Given the description of an element on the screen output the (x, y) to click on. 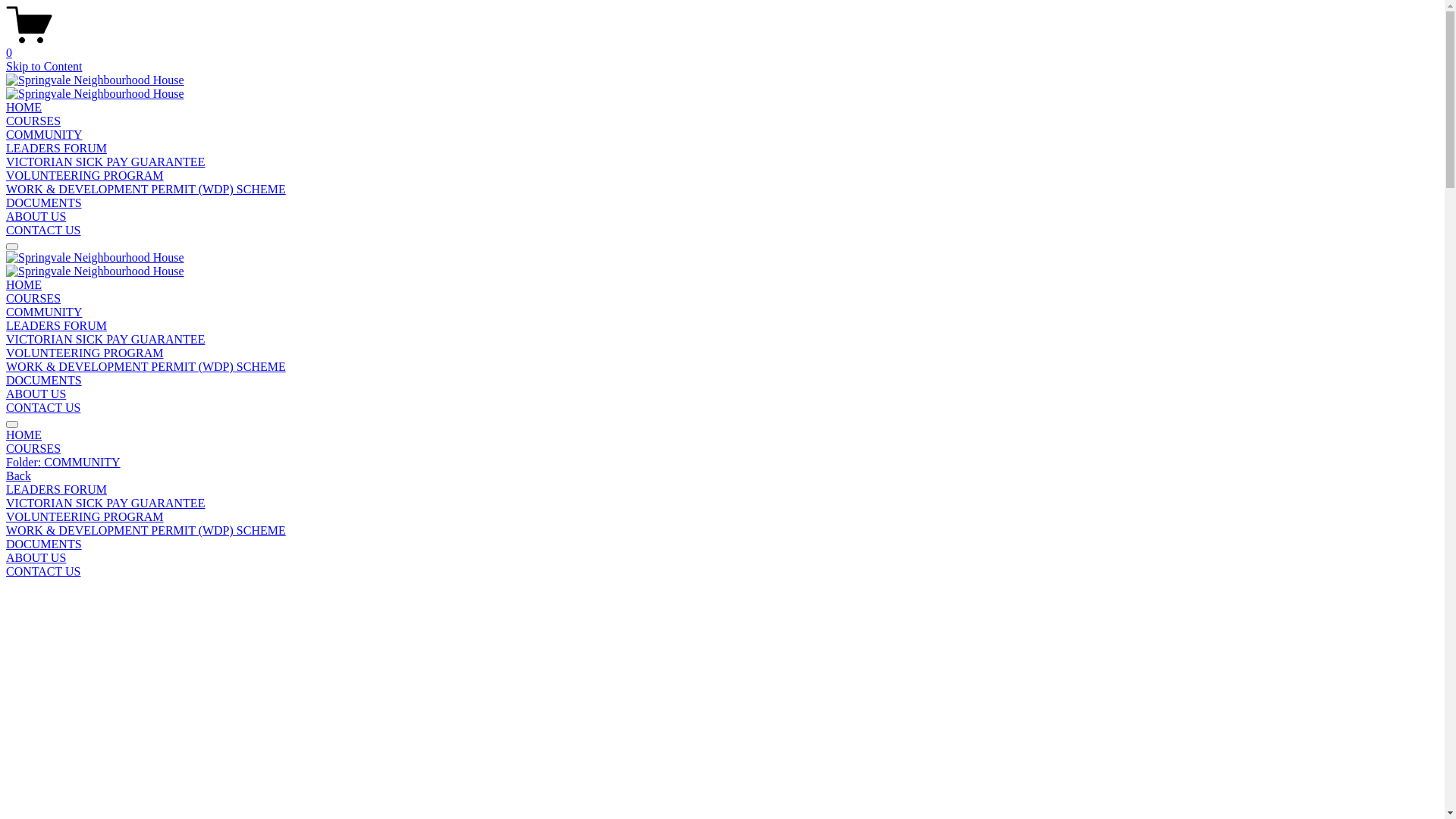
VICTORIAN SICK PAY GUARANTEE Element type: text (722, 503)
CONTACT US Element type: text (43, 407)
ABOUT US Element type: text (35, 393)
WORK & DEVELOPMENT PERMIT (WDP) SCHEME Element type: text (722, 530)
Folder: COMMUNITY Element type: text (722, 462)
HOME Element type: text (23, 284)
VOLUNTEERING PROGRAM Element type: text (84, 352)
VICTORIAN SICK PAY GUARANTEE Element type: text (105, 338)
HOME Element type: text (23, 106)
LEADERS FORUM Element type: text (56, 325)
COURSES Element type: text (722, 448)
VOLUNTEERING PROGRAM Element type: text (722, 517)
DOCUMENTS Element type: text (43, 379)
COURSES Element type: text (33, 297)
0 Element type: text (722, 45)
DOCUMENTS Element type: text (722, 544)
VICTORIAN SICK PAY GUARANTEE Element type: text (105, 161)
WORK & DEVELOPMENT PERMIT (WDP) SCHEME Element type: text (145, 366)
VOLUNTEERING PROGRAM Element type: text (84, 175)
COMMUNITY Element type: text (43, 311)
ABOUT US Element type: text (35, 216)
Back Element type: text (18, 475)
ABOUT US Element type: text (722, 557)
Skip to Content Element type: text (43, 65)
COURSES Element type: text (33, 120)
DOCUMENTS Element type: text (43, 202)
LEADERS FORUM Element type: text (722, 489)
HOME Element type: text (722, 435)
LEADERS FORUM Element type: text (56, 147)
CONTACT US Element type: text (722, 571)
WORK & DEVELOPMENT PERMIT (WDP) SCHEME Element type: text (145, 188)
CONTACT US Element type: text (43, 229)
COMMUNITY Element type: text (43, 134)
